Given the description of an element on the screen output the (x, y) to click on. 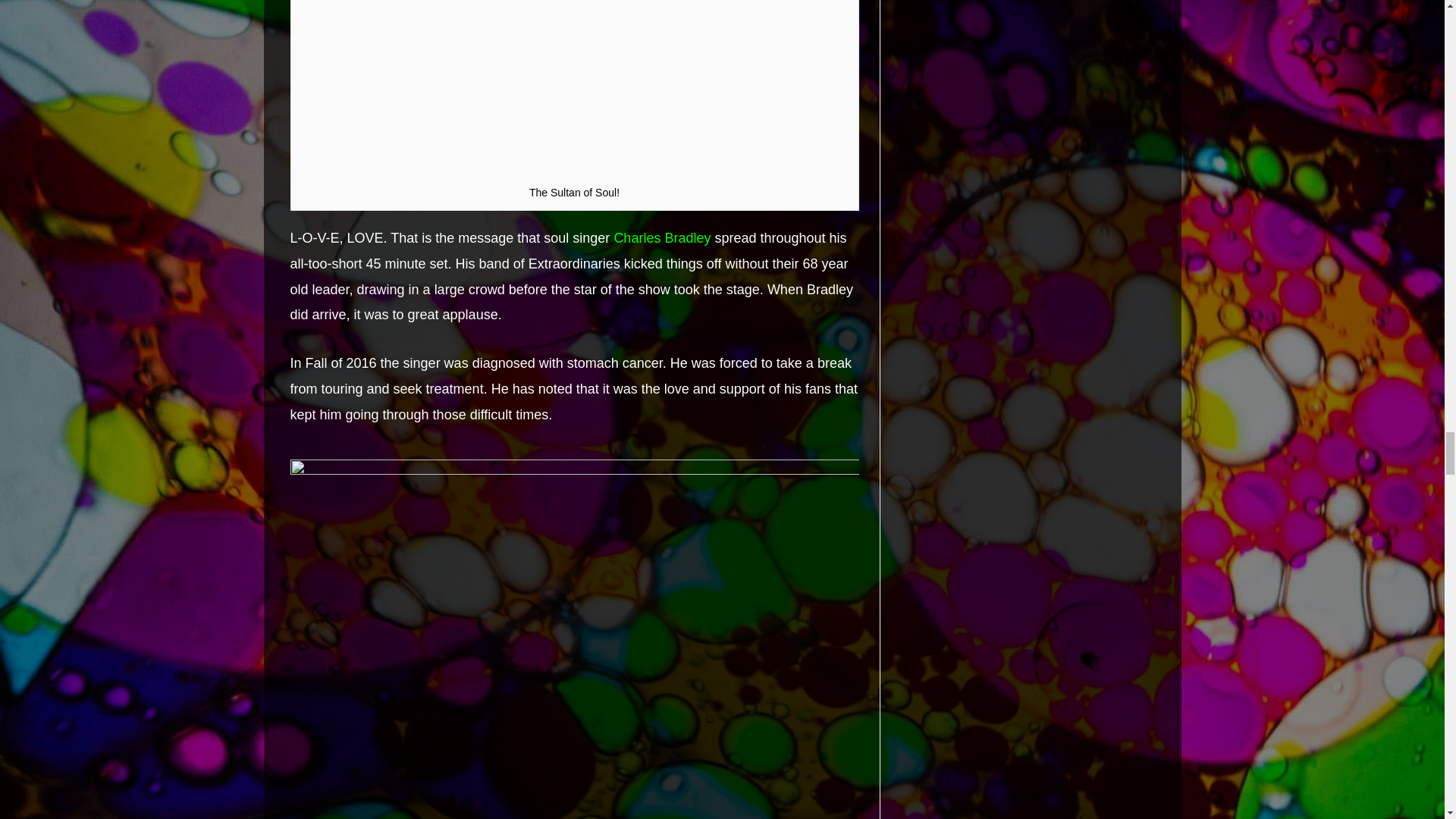
Charles Bradley (661, 237)
